Given the description of an element on the screen output the (x, y) to click on. 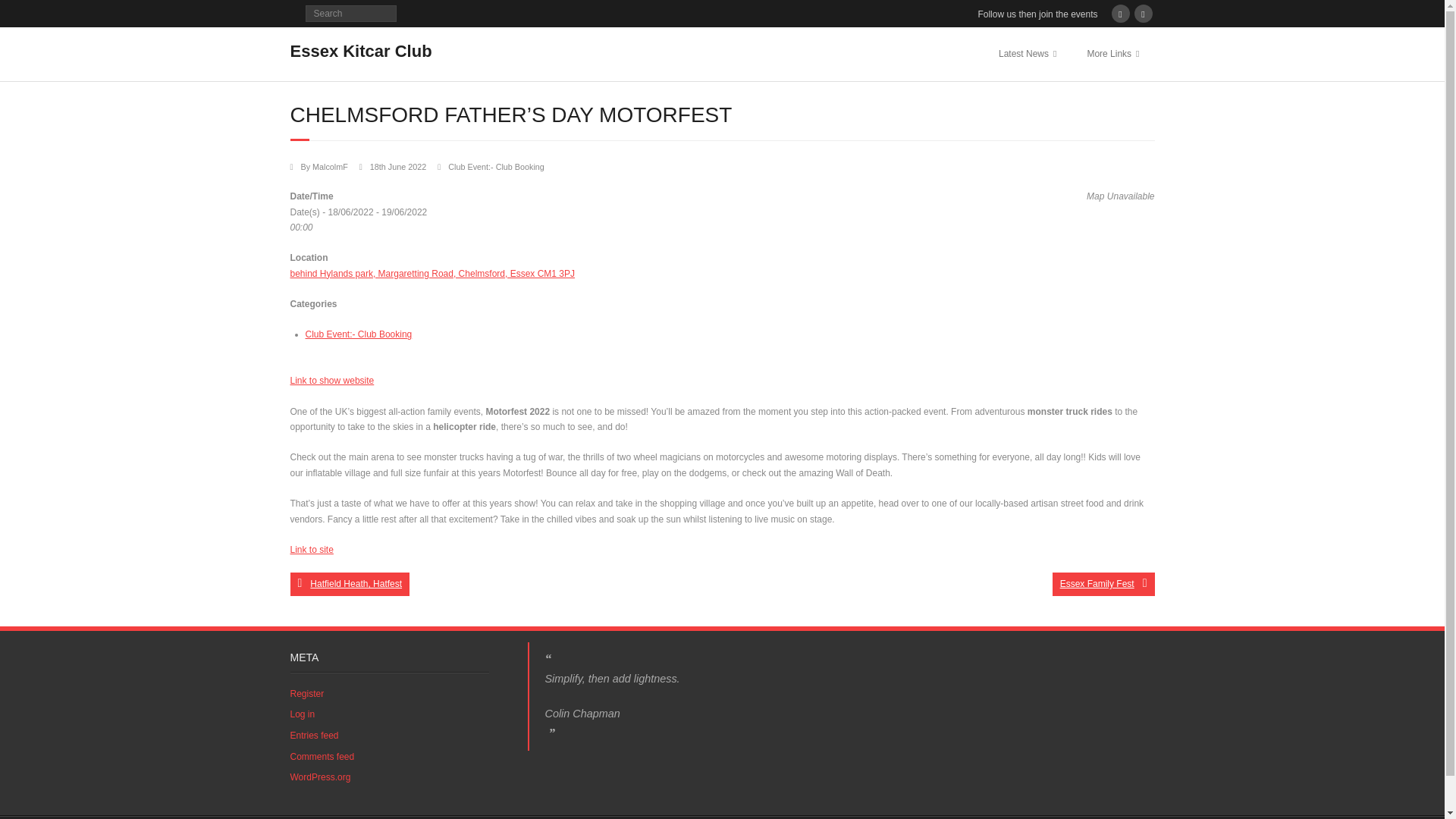
Club Event:- Club Booking (358, 334)
View all posts by MalcolmF (330, 166)
MalcolmF (330, 166)
Register (306, 694)
More Links (1112, 53)
18th June 2022 (397, 166)
WordPress.org (319, 778)
View all posts in Club Event:- Club Booking (496, 166)
Essex Kitcar Club (359, 50)
Club Event:- Club Booking (496, 166)
Latest News (1027, 53)
Search (25, 13)
Log in (301, 714)
Link to site (311, 549)
Hatfield Heath, Hatfest (349, 583)
